Given the description of an element on the screen output the (x, y) to click on. 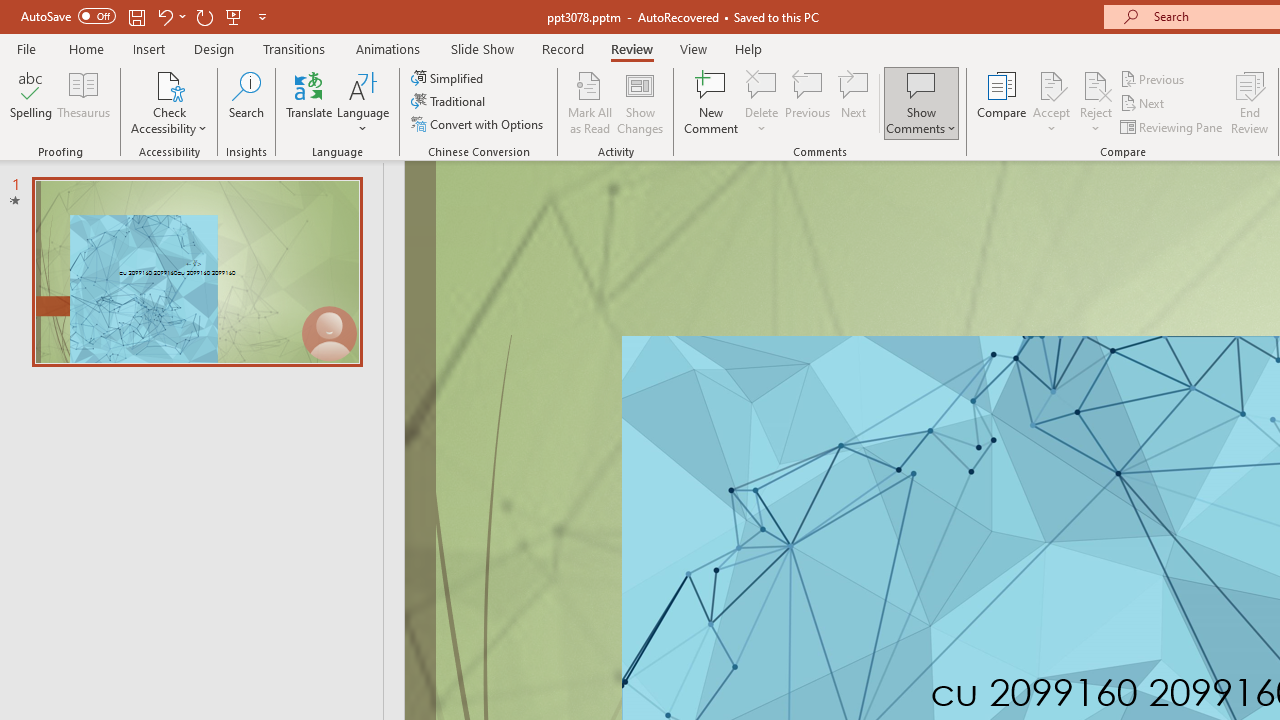
Translate (309, 102)
